Given the description of an element on the screen output the (x, y) to click on. 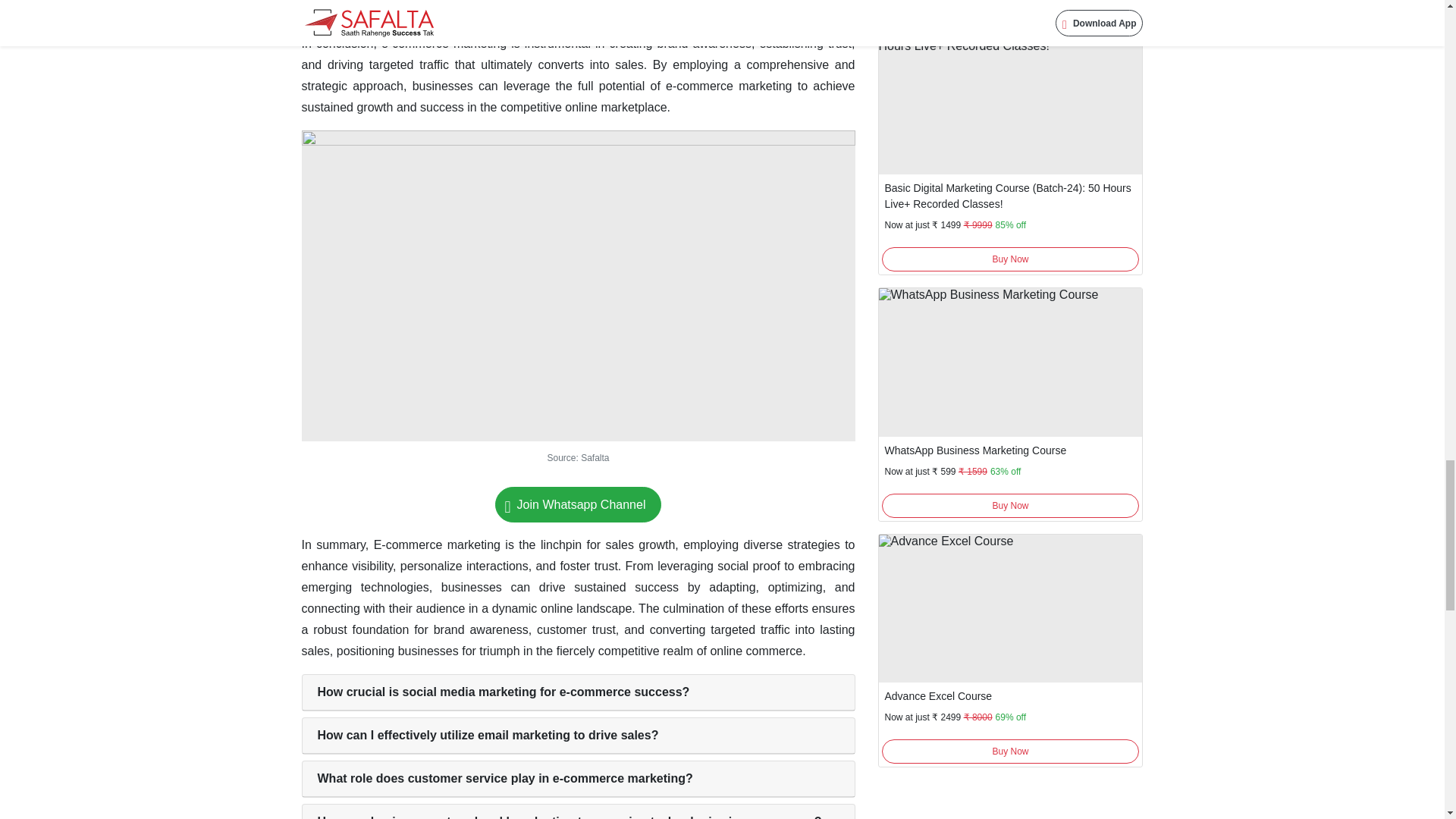
follow our whatsapp channel (578, 504)
Join Whatsapp Channel (578, 504)
